Given the description of an element on the screen output the (x, y) to click on. 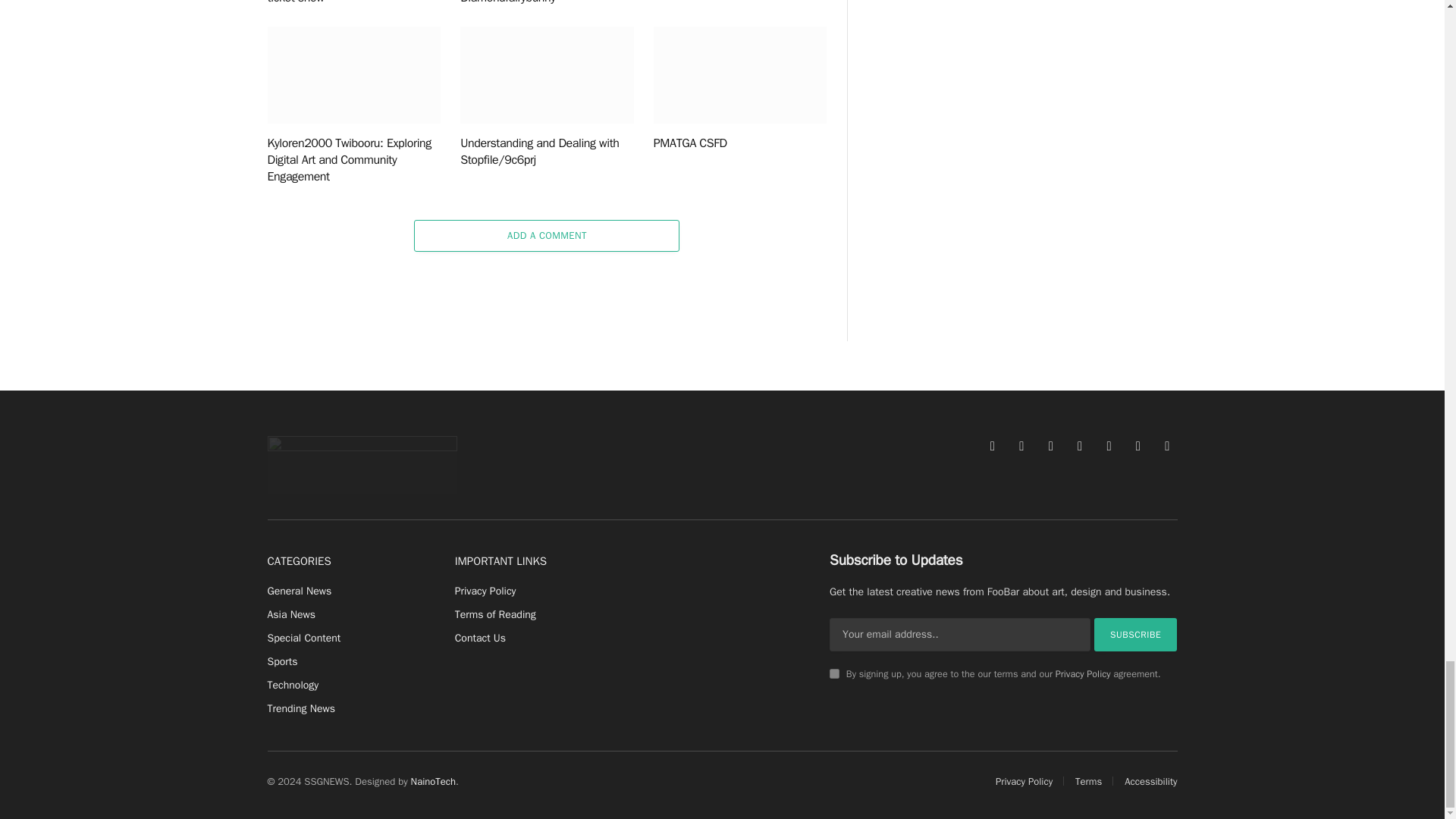
Subscribe (1135, 634)
on (834, 673)
